Given the description of an element on the screen output the (x, y) to click on. 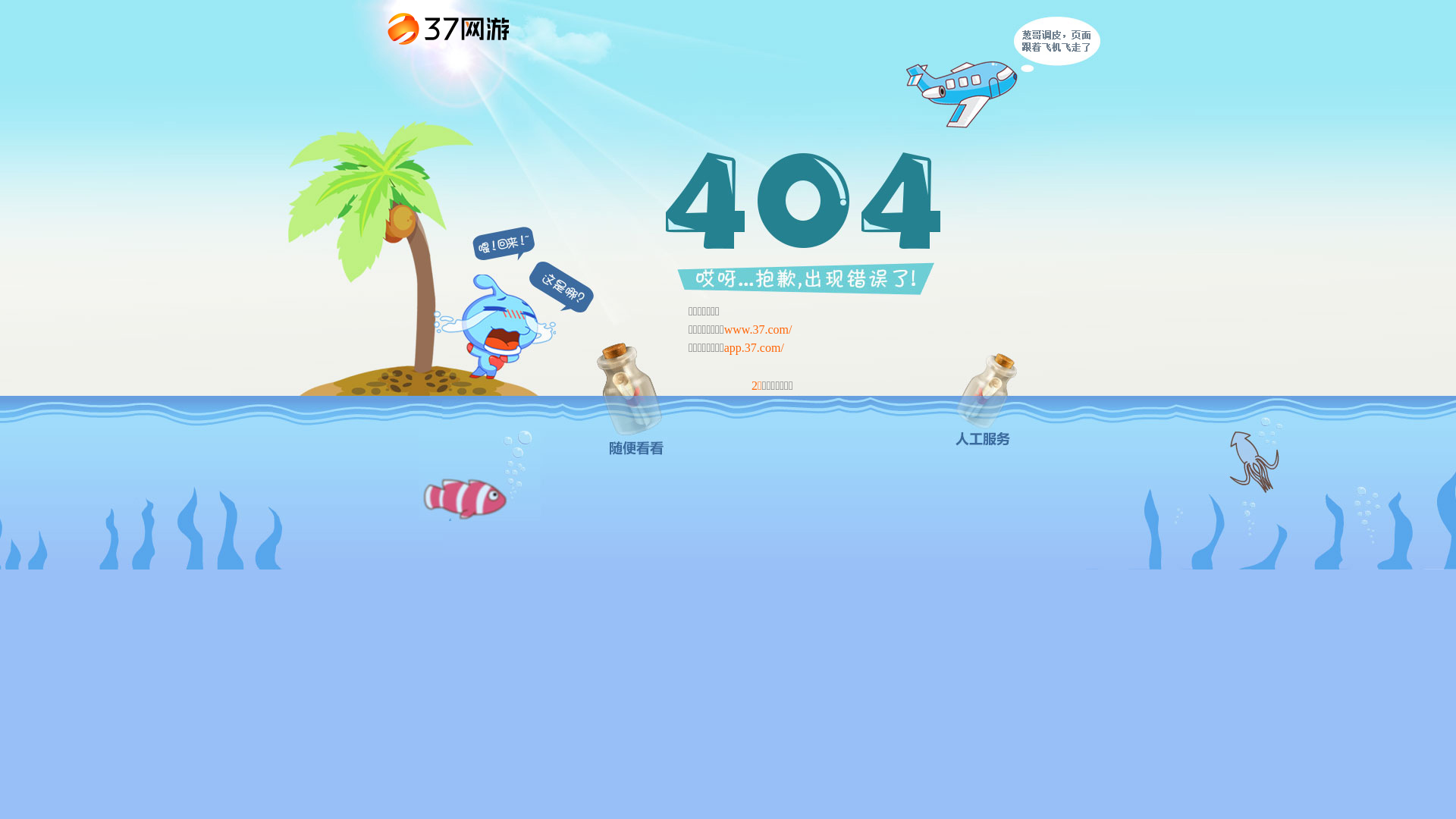
app.37.com/ Element type: text (754, 347)
www.37.com/ Element type: text (758, 329)
